Given the description of an element on the screen output the (x, y) to click on. 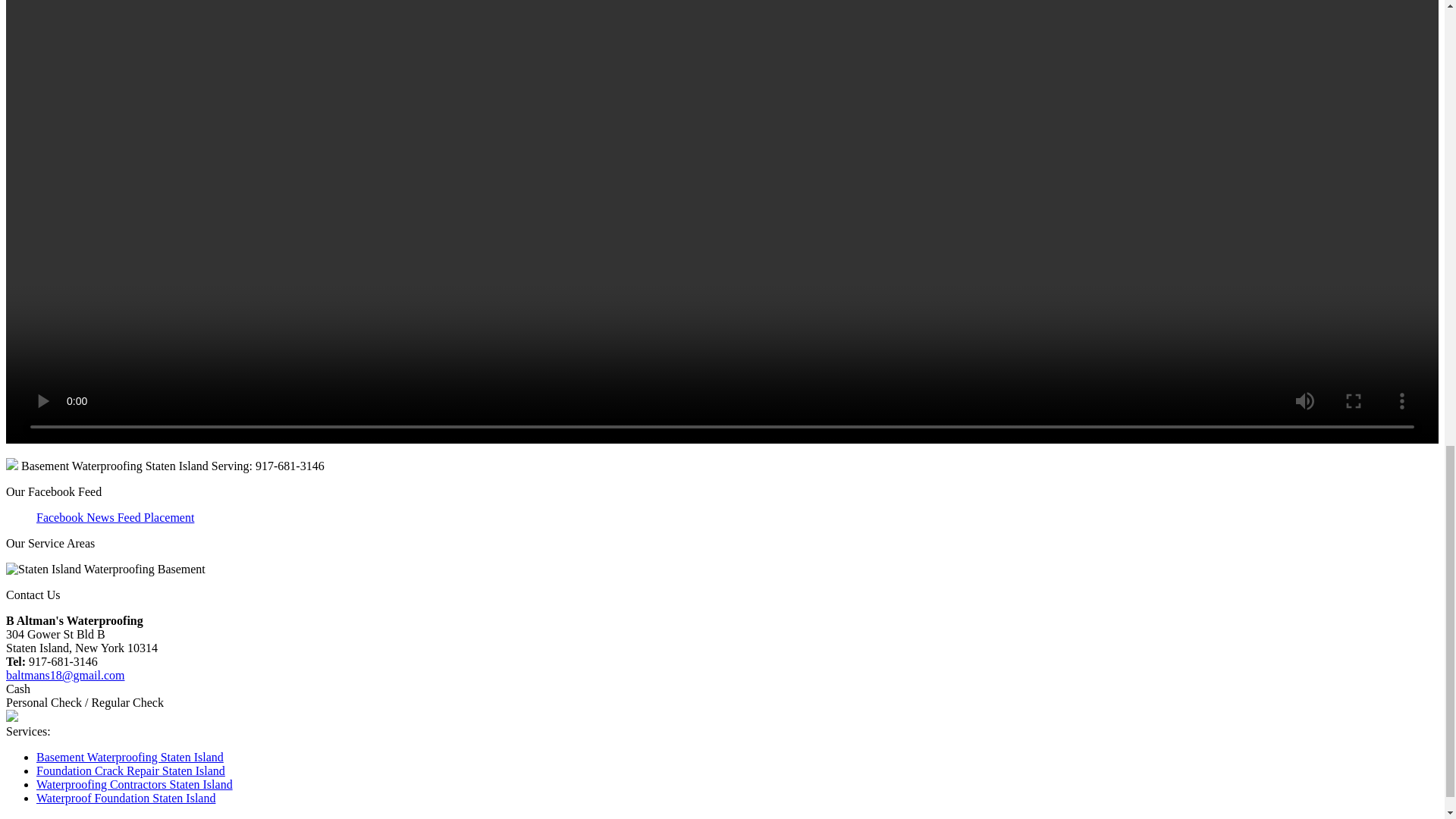
Basement Waterproofing Staten Island (130, 757)
Waterproofing Contractors Staten Island (134, 784)
Facebook News Feed Placement (114, 517)
Waterproof Foundation Staten Island (125, 797)
Foundation Crack Repair Staten Island (130, 770)
